Given the description of an element on the screen output the (x, y) to click on. 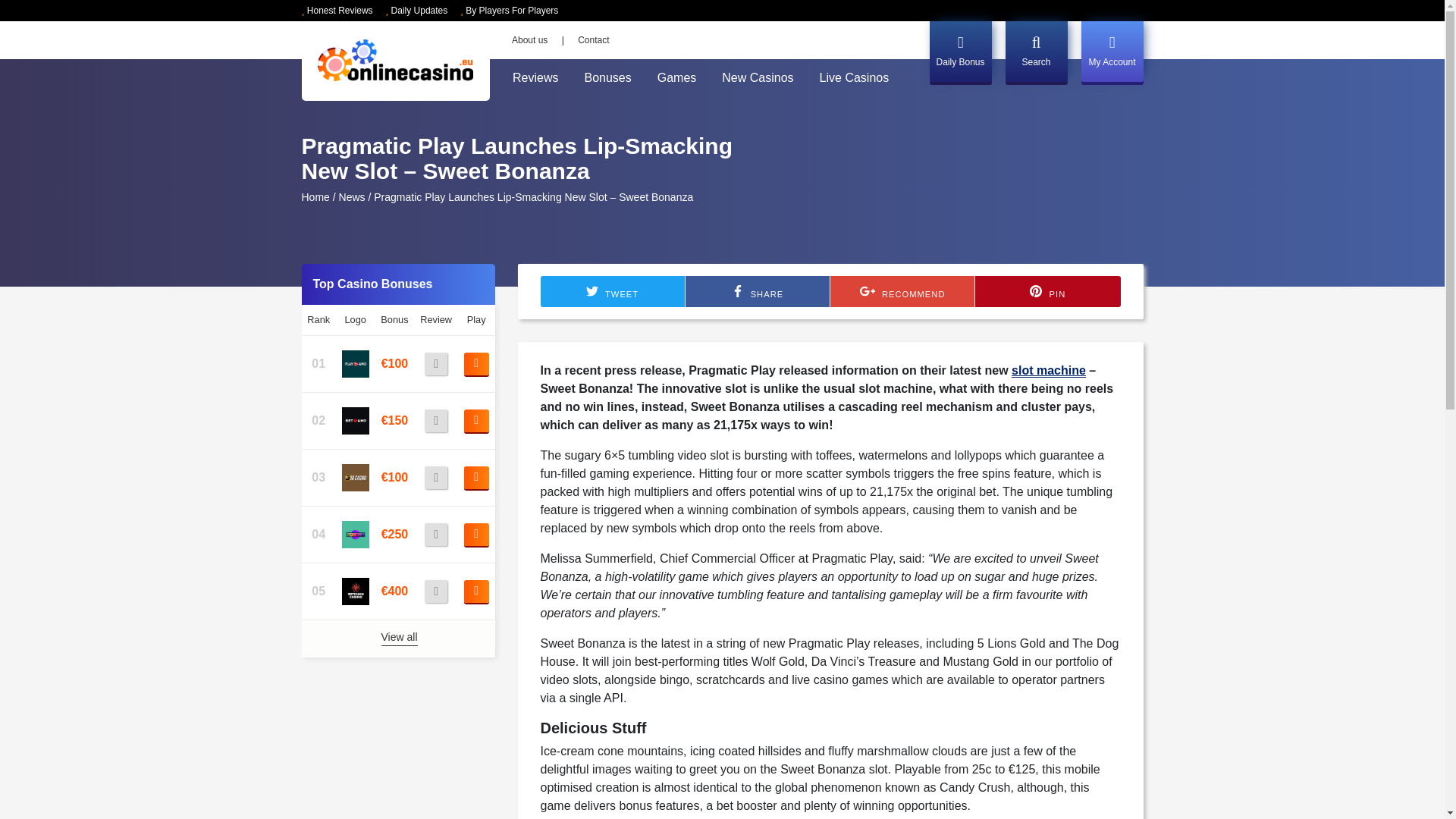
News (352, 196)
Search (1116, 109)
Reviews (535, 78)
PINTEREST (1035, 291)
Bonuses (607, 78)
My Account (1111, 51)
FACEBOOK (738, 291)
View all (398, 638)
Search (1036, 51)
Live Casinos (854, 78)
